Given the description of an element on the screen output the (x, y) to click on. 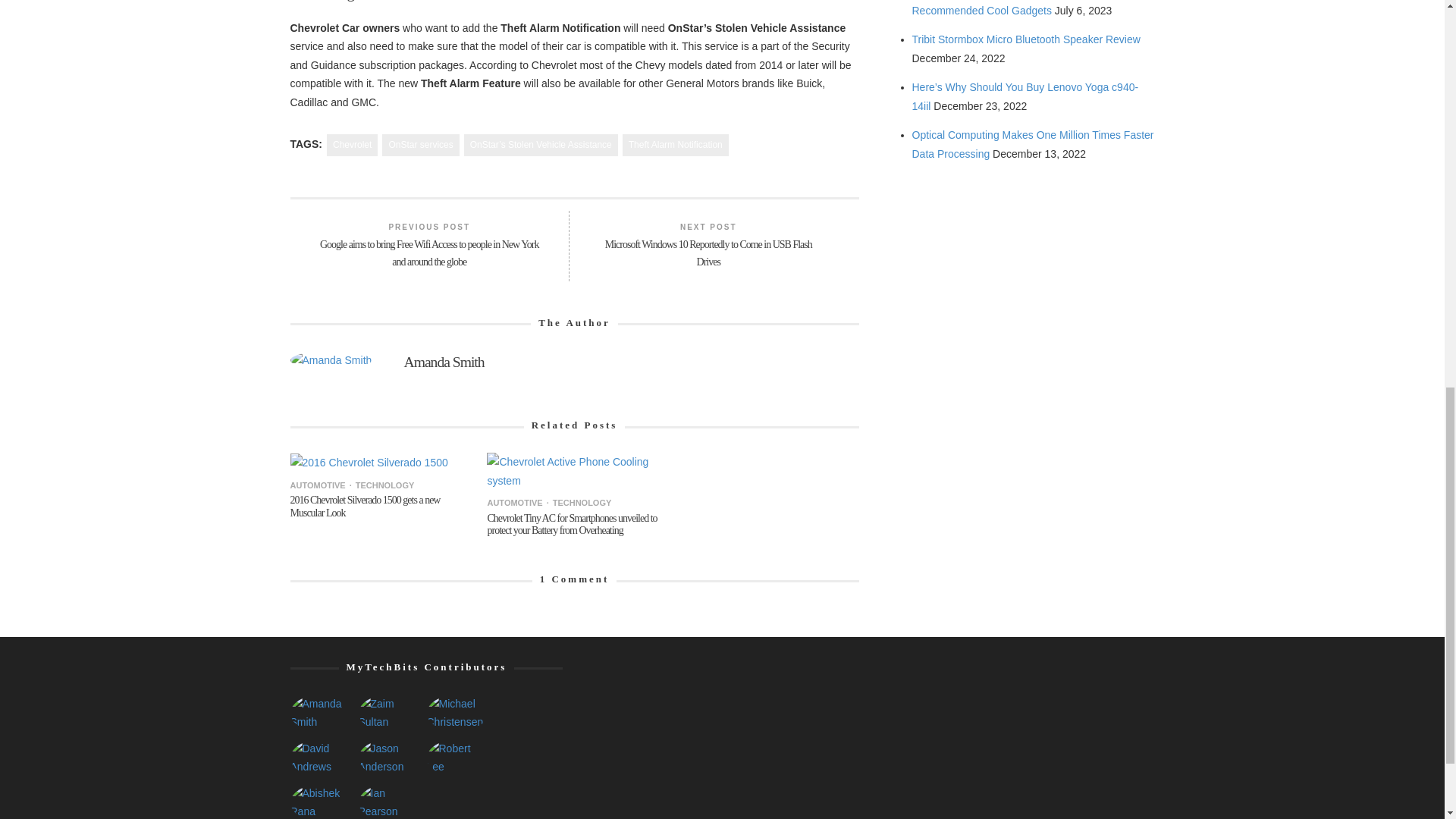
View all posts in Technology (380, 484)
Posts by Amanda Smith (330, 363)
View all posts in Automotive (317, 484)
